Given the description of an element on the screen output the (x, y) to click on. 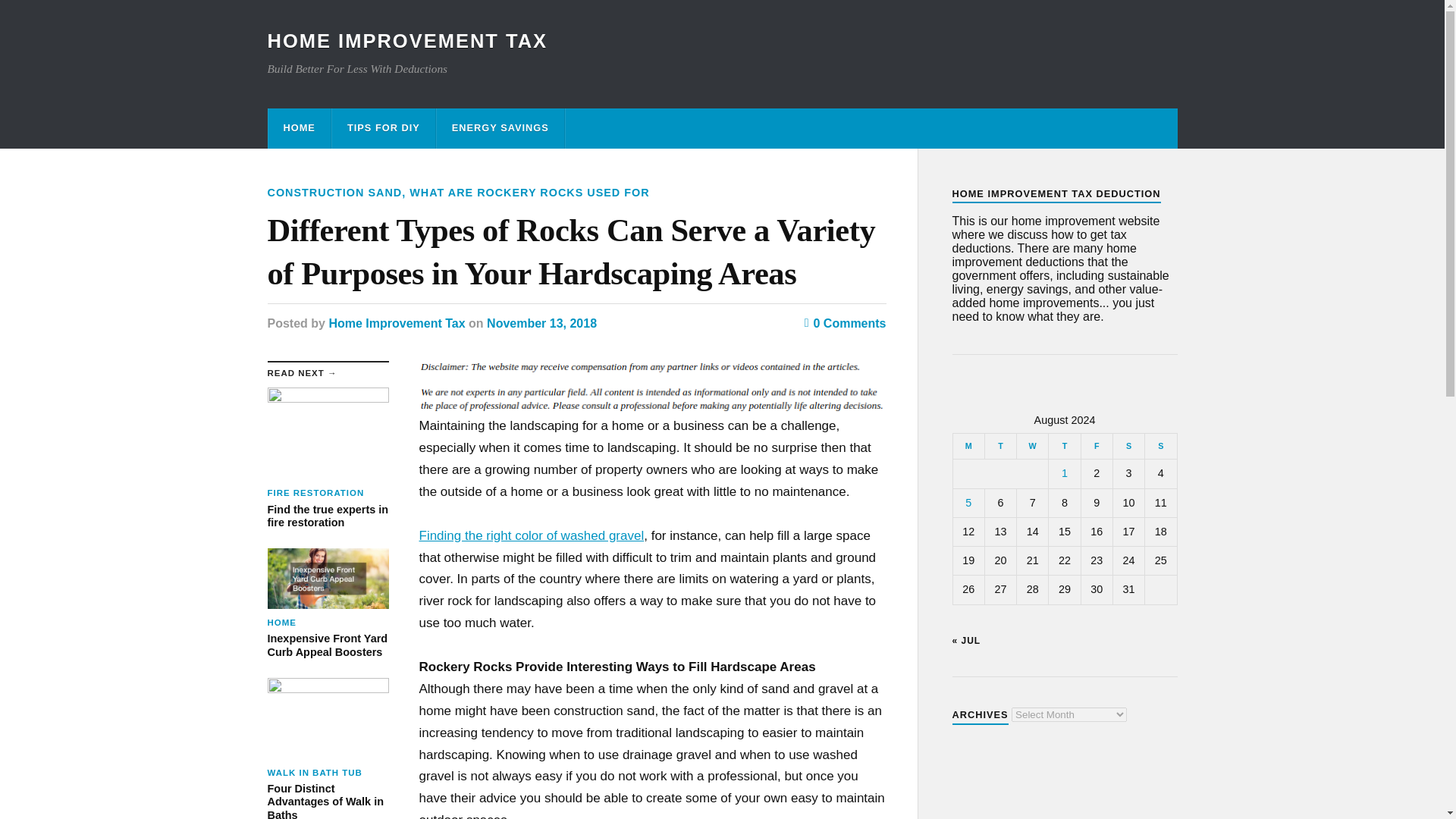
Home Improvement Tax (396, 323)
HOME (298, 128)
Monday (968, 446)
Wednesday (1032, 446)
Thursday (1064, 446)
CONSTRUCTION SAND (327, 603)
WHAT ARE ROCKERY ROCKS USED FOR (333, 192)
Tuesday (529, 192)
Friday (1000, 446)
